Given the description of an element on the screen output the (x, y) to click on. 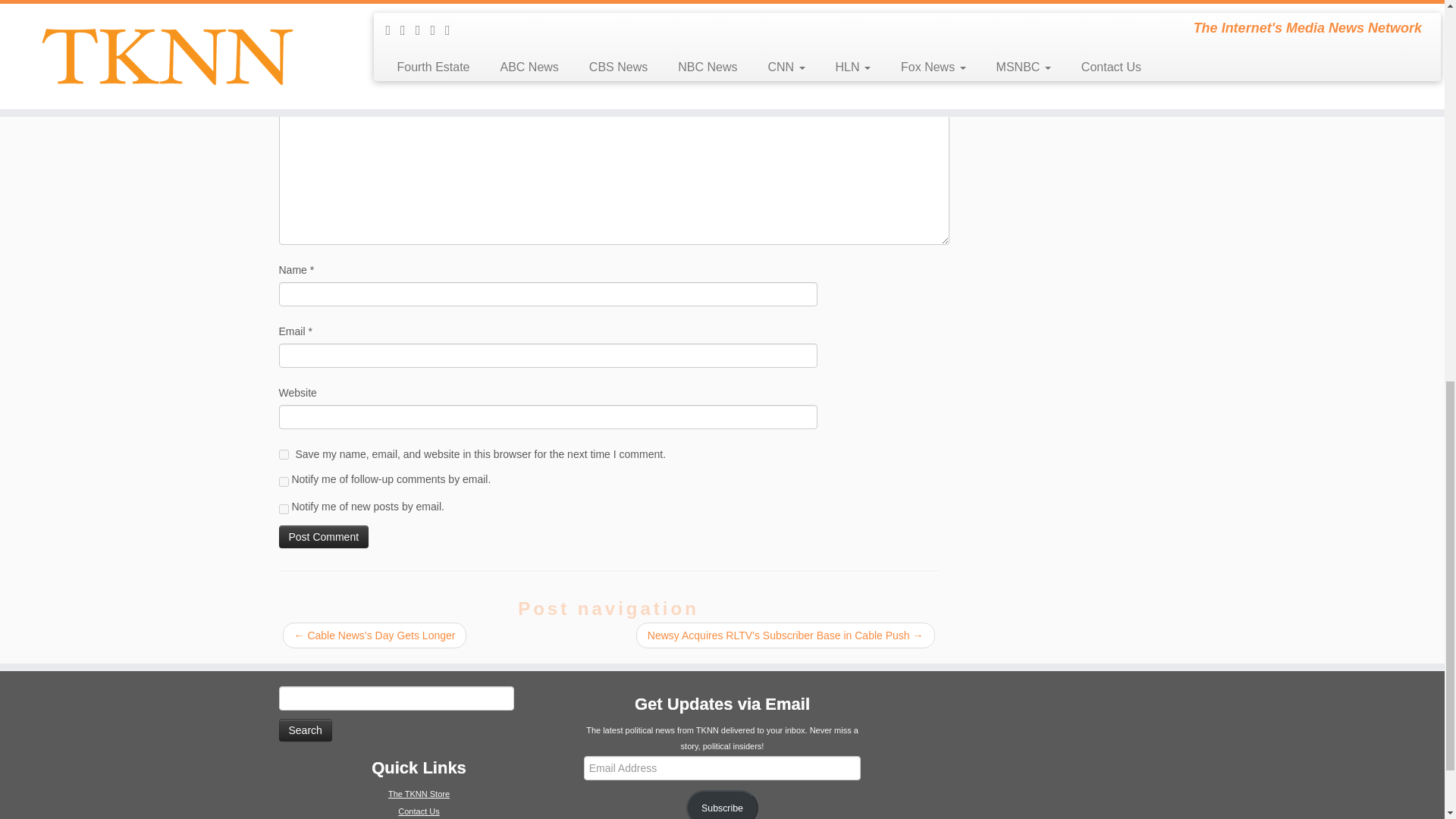
Post Comment (324, 536)
Search (305, 730)
subscribe (283, 509)
Search (305, 730)
yes (283, 454)
subscribe (283, 481)
Post Comment (324, 536)
